Given the description of an element on the screen output the (x, y) to click on. 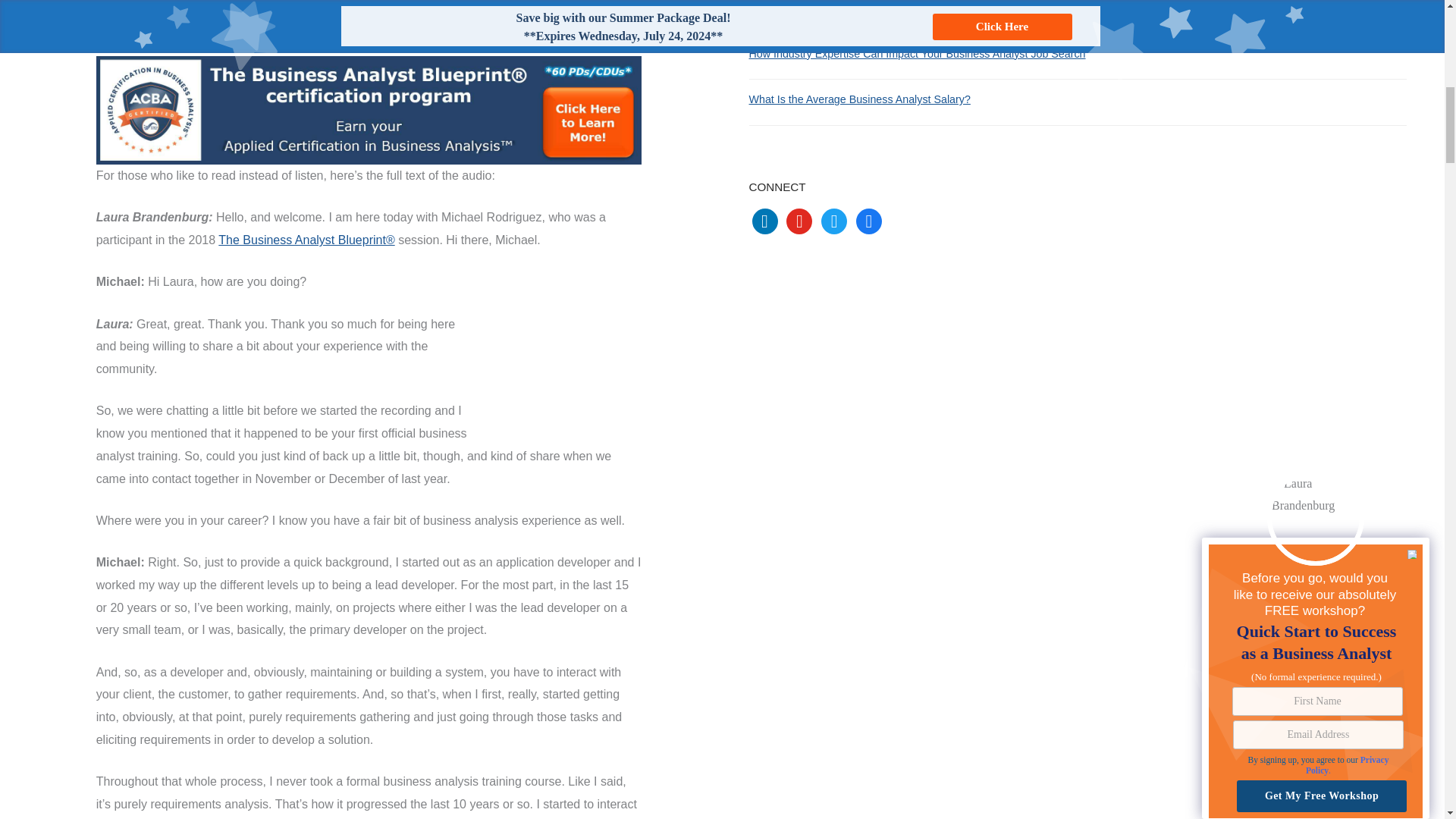
Twitter (834, 220)
What Is the Average Business Analyst Salary? (860, 99)
Default Label (869, 220)
Default Label (799, 220)
youtube (799, 220)
Default Label (764, 220)
facebook (869, 220)
linkedin (764, 220)
twitter (834, 220)
